Given the description of an element on the screen output the (x, y) to click on. 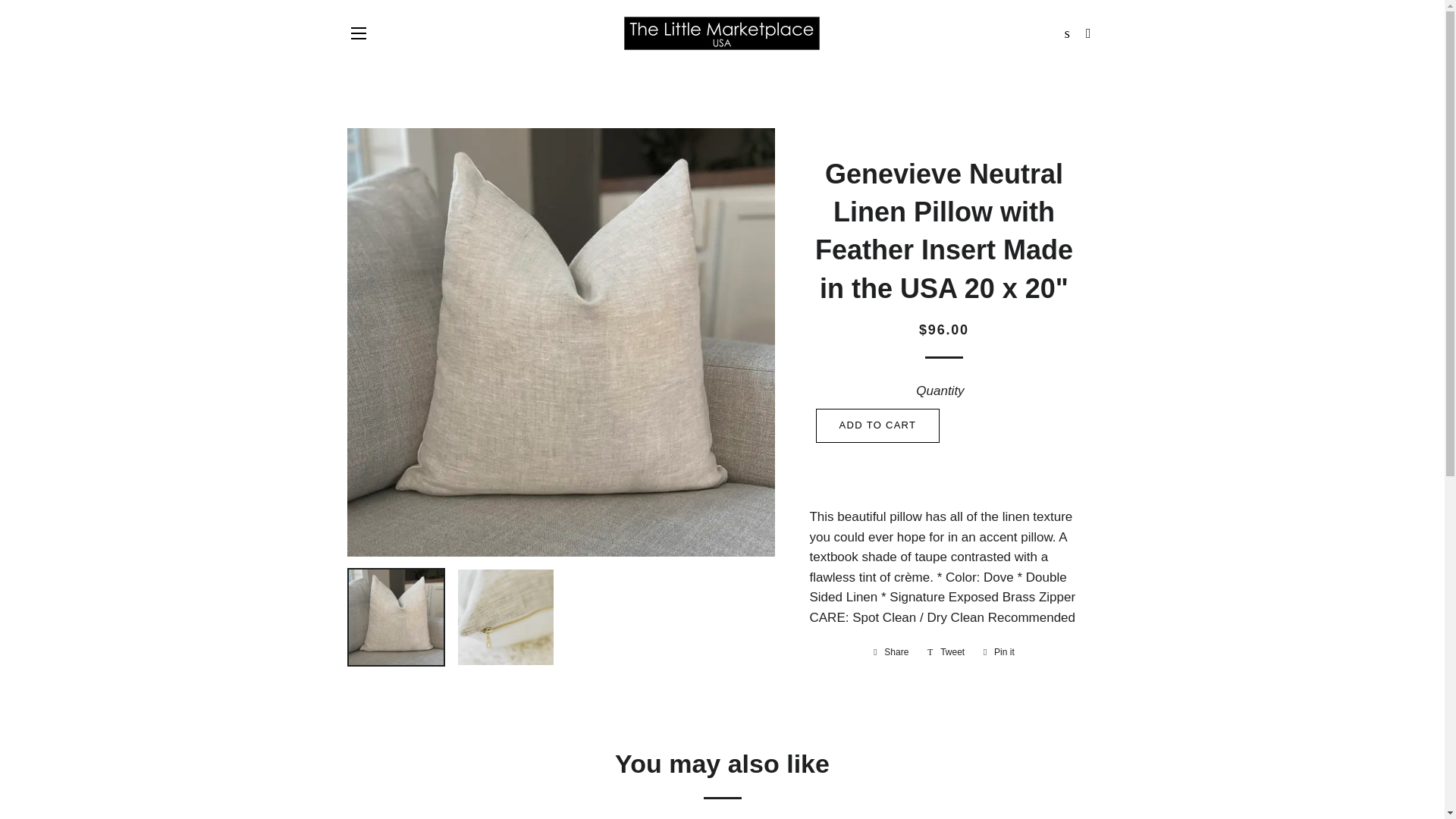
Tweet on Twitter (946, 651)
Pin on Pinterest (998, 651)
Share on Facebook (890, 651)
